Given the description of an element on the screen output the (x, y) to click on. 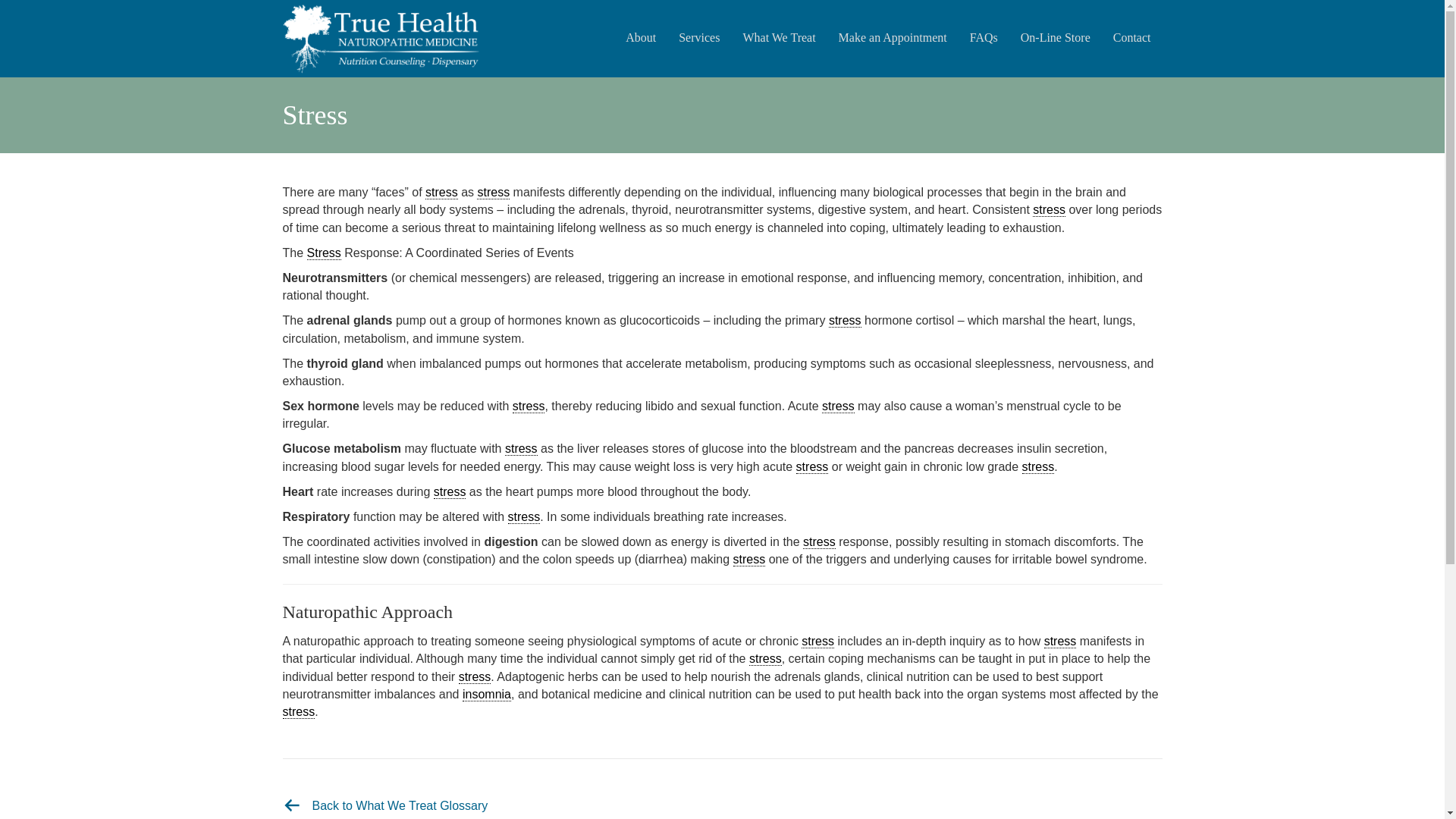
insomnia (487, 694)
Back to What We Treat Glossary (400, 805)
stress (449, 491)
stress (749, 559)
Stress (323, 253)
stress (493, 192)
true-health-logo-wht-01 (381, 38)
stress (521, 448)
stress (844, 320)
stress (1060, 641)
